Given the description of an element on the screen output the (x, y) to click on. 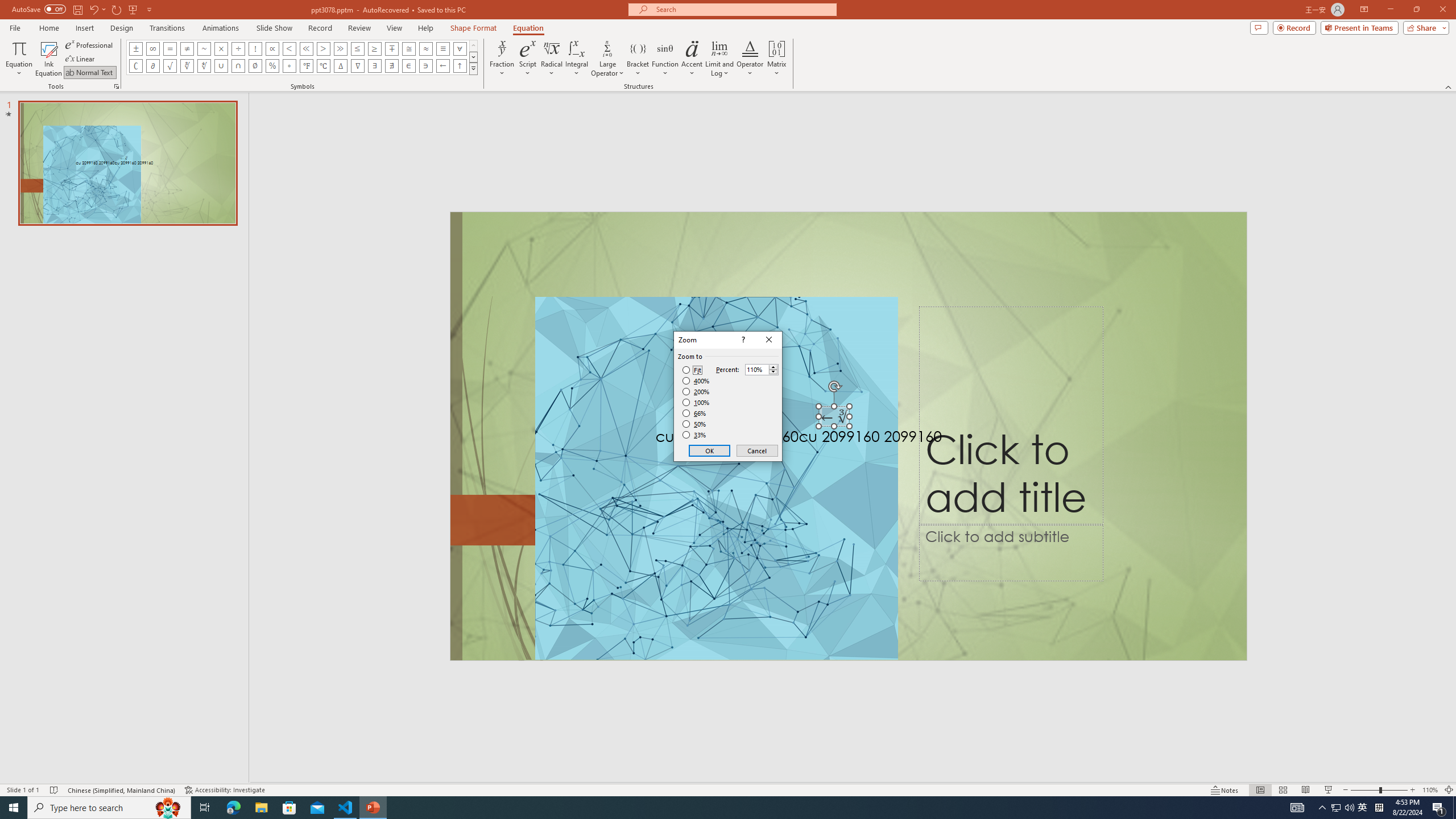
Equation Symbol Element Of (408, 65)
Equation Symbol Radical Sign (170, 65)
Percent (761, 369)
Percent (756, 369)
33% (694, 434)
Equation Symbol Percentage (272, 65)
Equation Symbol Increment (340, 65)
Bracket (638, 58)
